Given the description of an element on the screen output the (x, y) to click on. 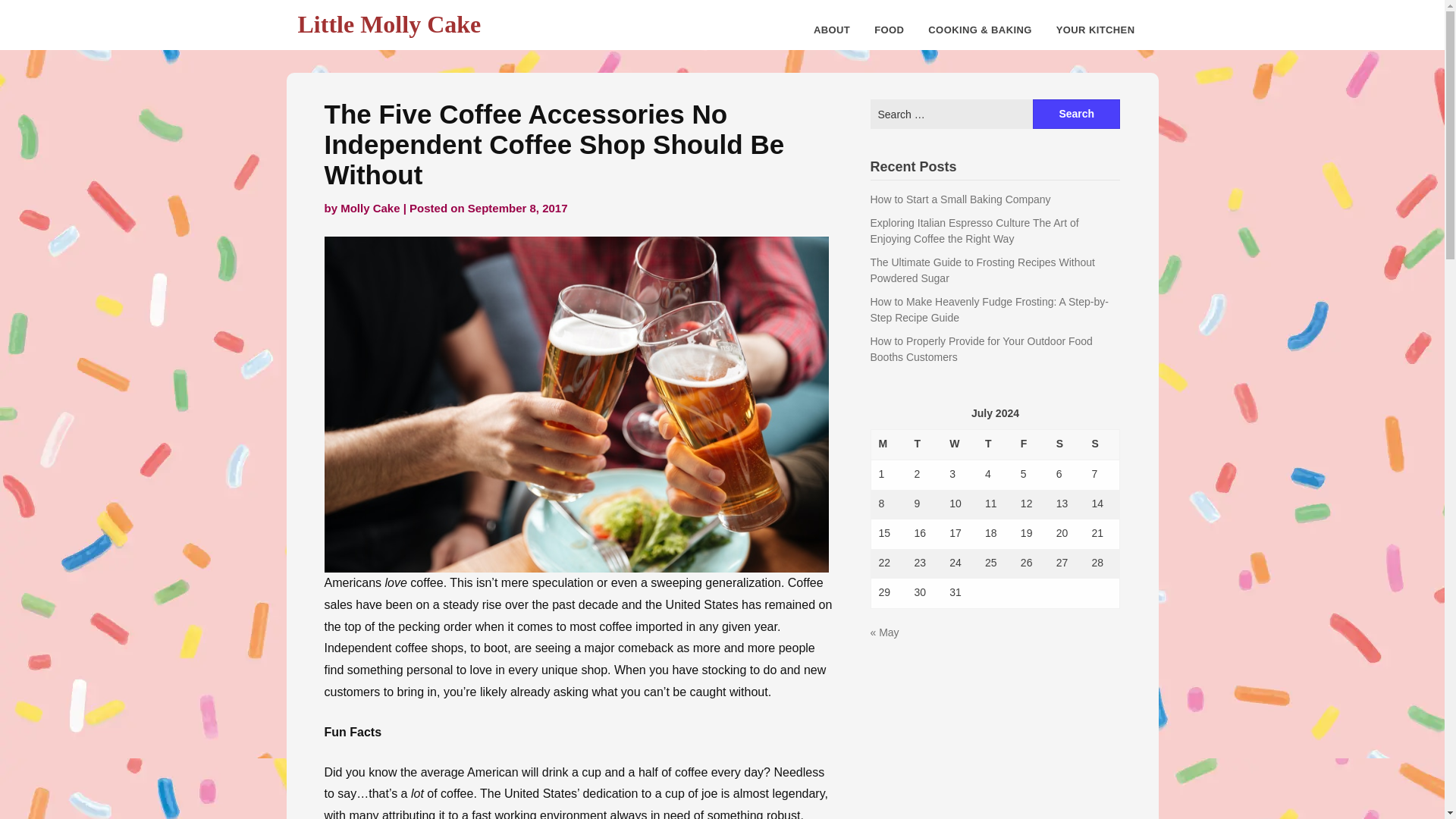
YOUR KITCHEN (1095, 30)
FOOD (888, 30)
Search (1075, 113)
How to Start a Small Baking Company (960, 199)
September 8, 2017 (517, 207)
Tuesday (923, 444)
Saturday (1066, 444)
Friday (1030, 444)
Wednesday (959, 444)
Search (1075, 113)
ABOUT (831, 30)
